Given the description of an element on the screen output the (x, y) to click on. 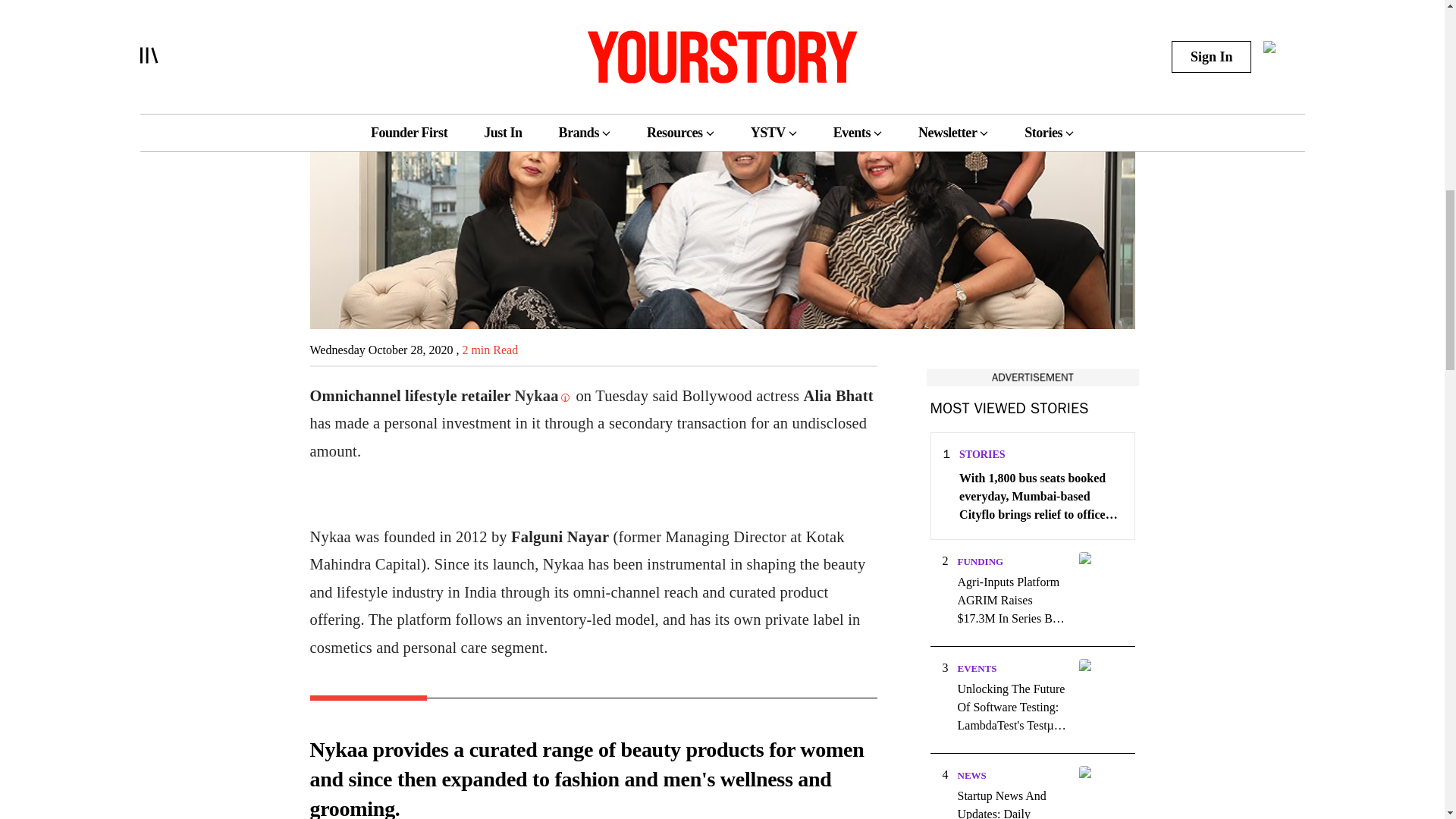
EVENTS (975, 668)
FUNDING (979, 561)
NEWS (970, 775)
STORIES (981, 454)
Advertise with us (1032, 376)
